Given the description of an element on the screen output the (x, y) to click on. 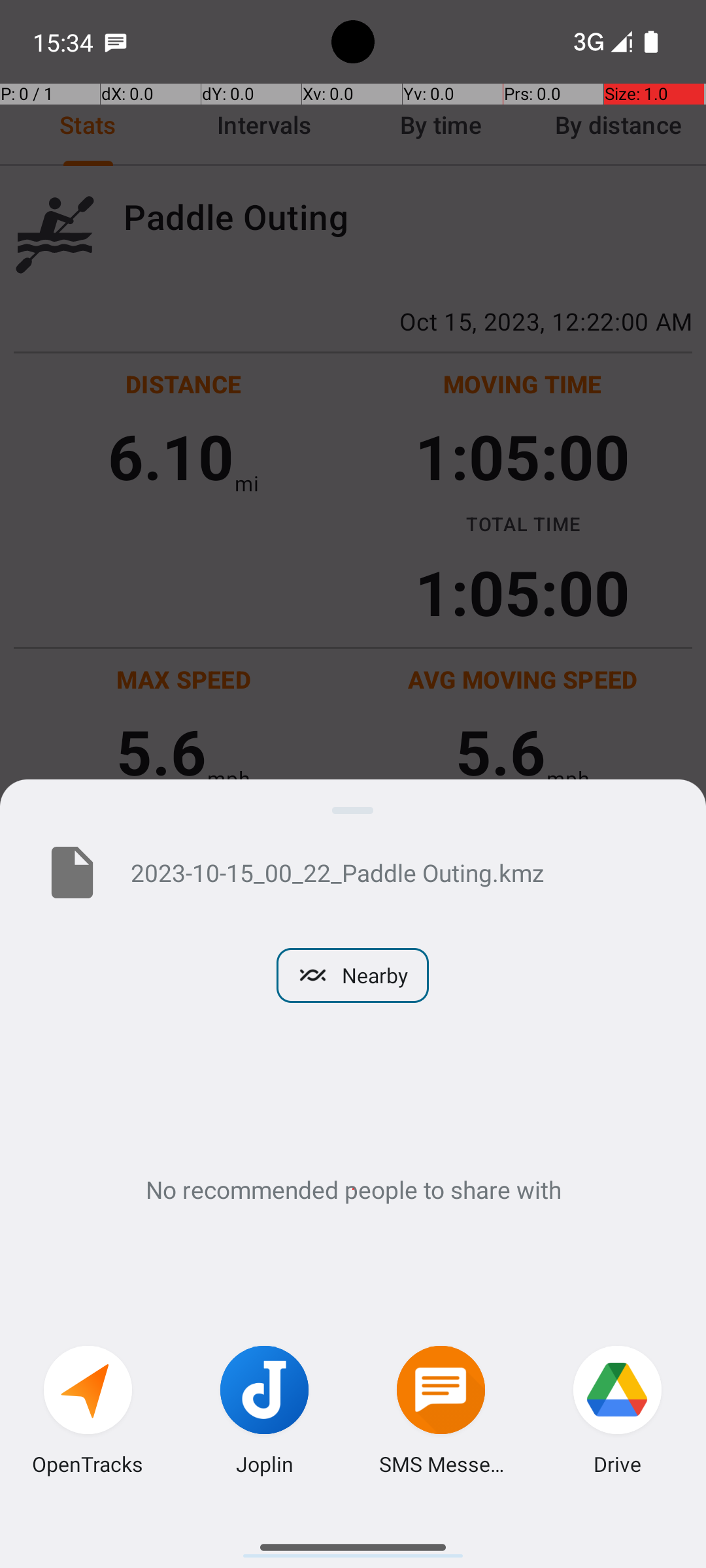
2023-10-15_00_22_Paddle Outing.kmz Element type: android.widget.TextView (397, 872)
